Given the description of an element on the screen output the (x, y) to click on. 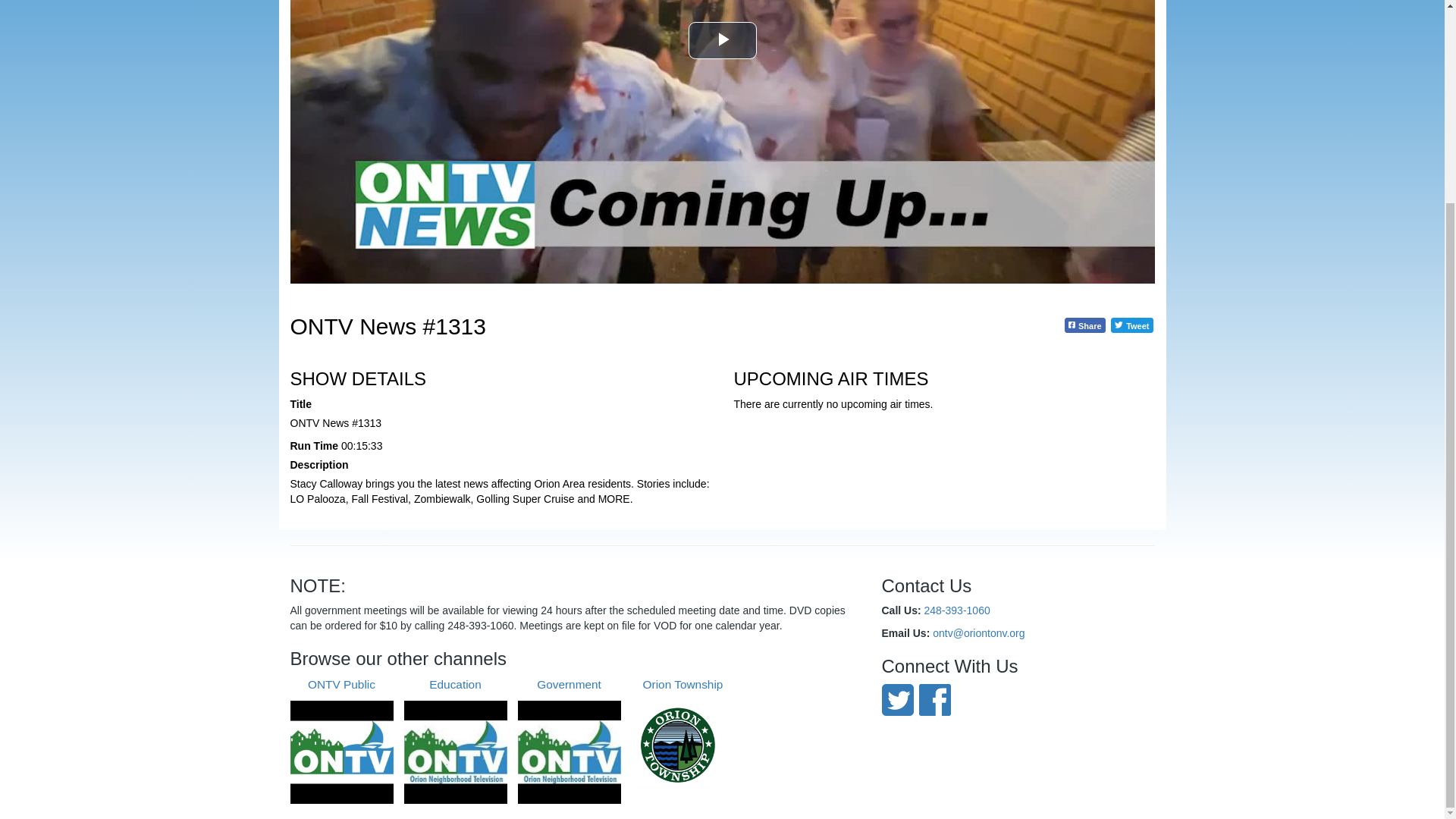
Share (1084, 324)
Orion Township (681, 732)
Tweet (1131, 324)
248-393-1060 (957, 610)
